Given the description of an element on the screen output the (x, y) to click on. 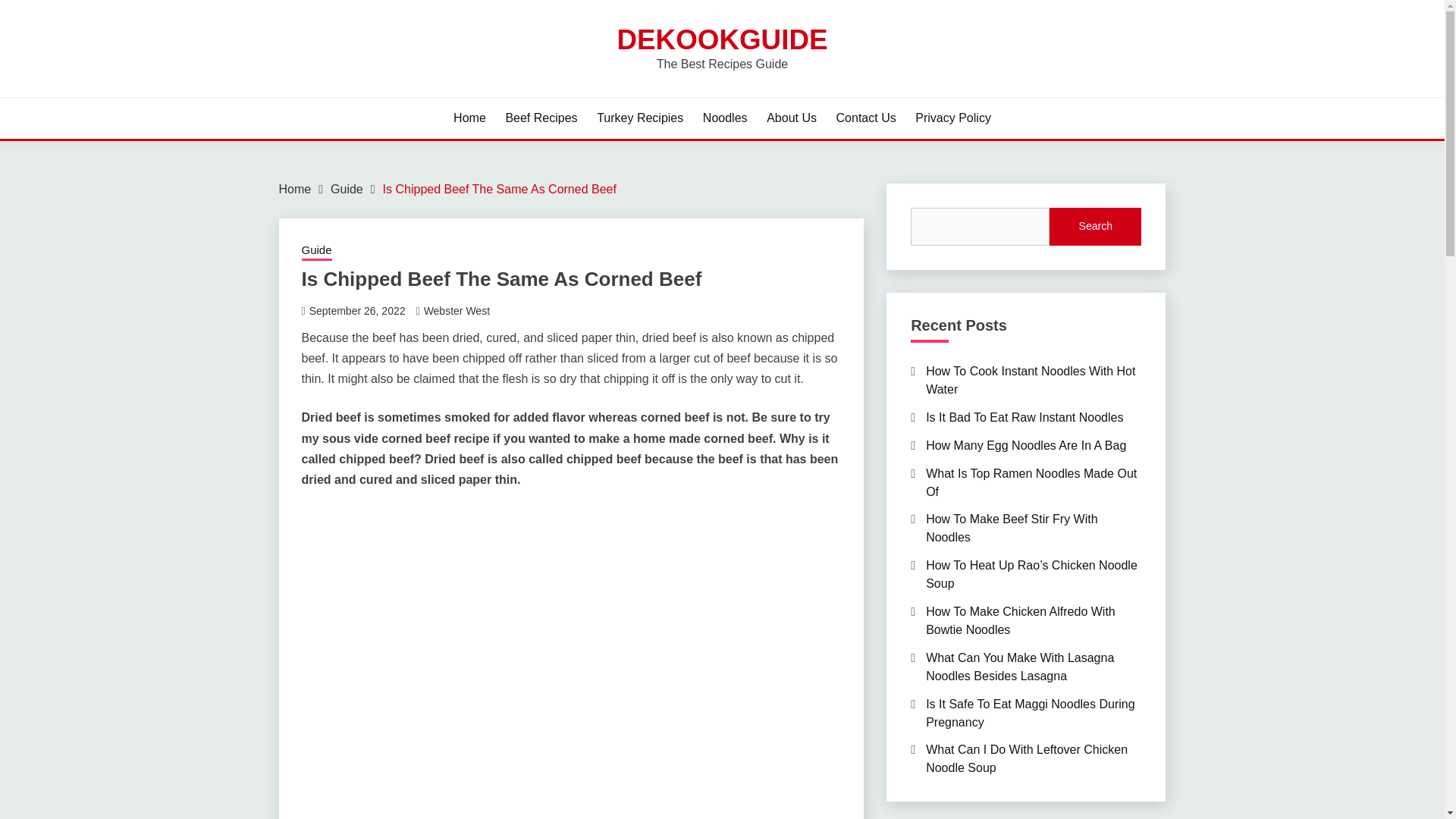
About Us (791, 117)
Search (1095, 226)
DEKOOKGUIDE (721, 39)
How Many Egg Noodles Are In A Bag (1025, 445)
Guide (316, 251)
Noodles (725, 117)
Is Chipped Beef The Same As Corned Beef (498, 188)
Contact Us (865, 117)
Is It Bad To Eat Raw Instant Noodles (1024, 417)
Webster West (456, 310)
What Is Top Ramen Noodles Made Out Of (1031, 481)
September 26, 2022 (357, 310)
Home (469, 117)
Turkey Recipies (639, 117)
Search (832, 18)
